Given the description of an element on the screen output the (x, y) to click on. 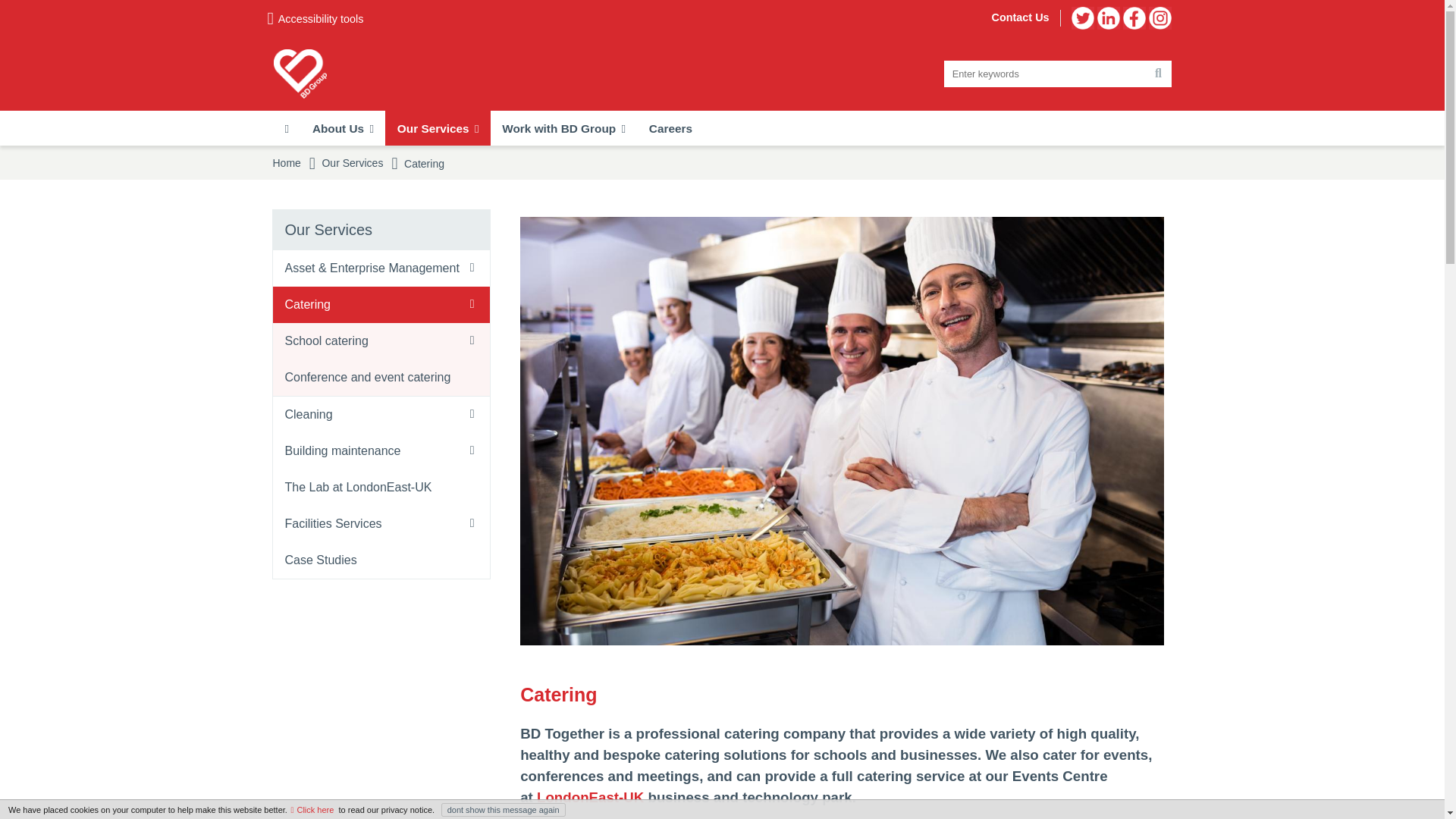
dont show this message again (503, 809)
Our Services (437, 127)
Accessibility tools (315, 18)
Search (1157, 73)
search (1056, 73)
Contact Us (1020, 17)
About Us (343, 127)
Search (1157, 73)
download this document in a new window (312, 809)
